Given the description of an element on the screen output the (x, y) to click on. 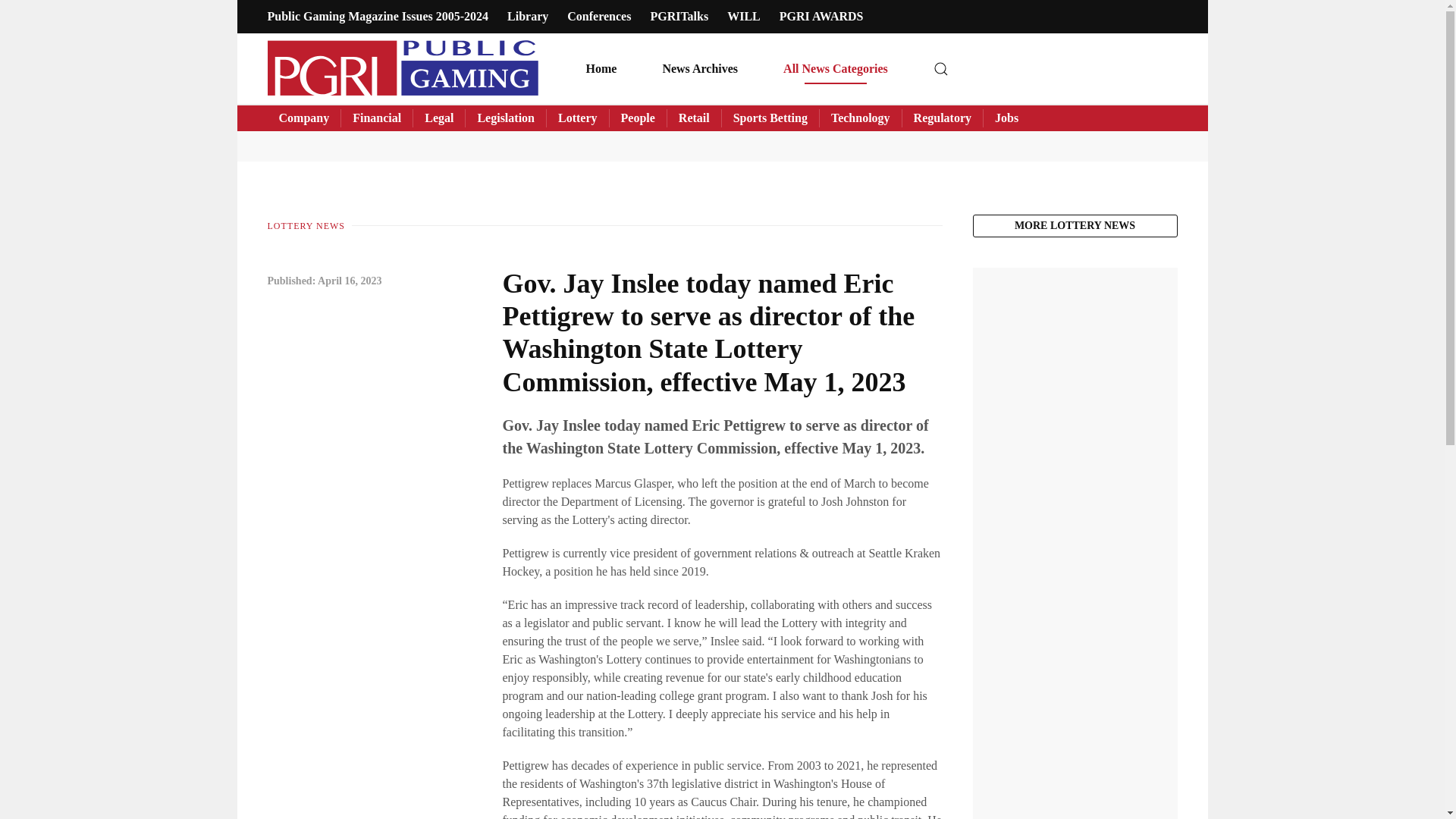
Public Gaming Magazine Issues 2005-2024 (376, 16)
Browse all Lottery news (1074, 225)
All News Categories (835, 67)
News Archives (700, 67)
PGRI AWARDS (820, 16)
PGRITalks (678, 16)
Conferences (598, 16)
Library (527, 16)
WILL (743, 16)
